Given the description of an element on the screen output the (x, y) to click on. 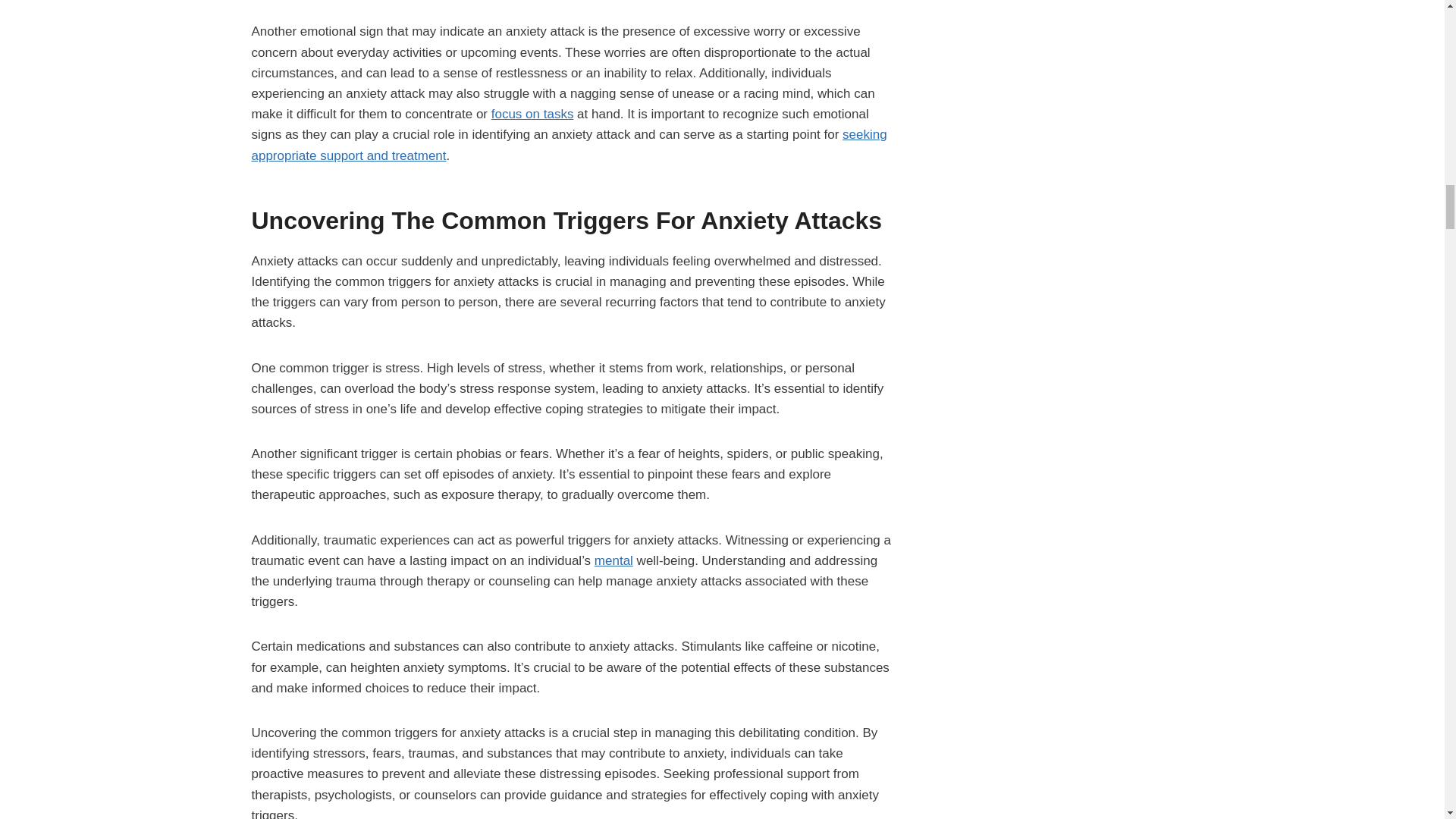
focus on tasks (532, 114)
seeking appropriate support and treatment (568, 144)
mental (613, 560)
